Given the description of an element on the screen output the (x, y) to click on. 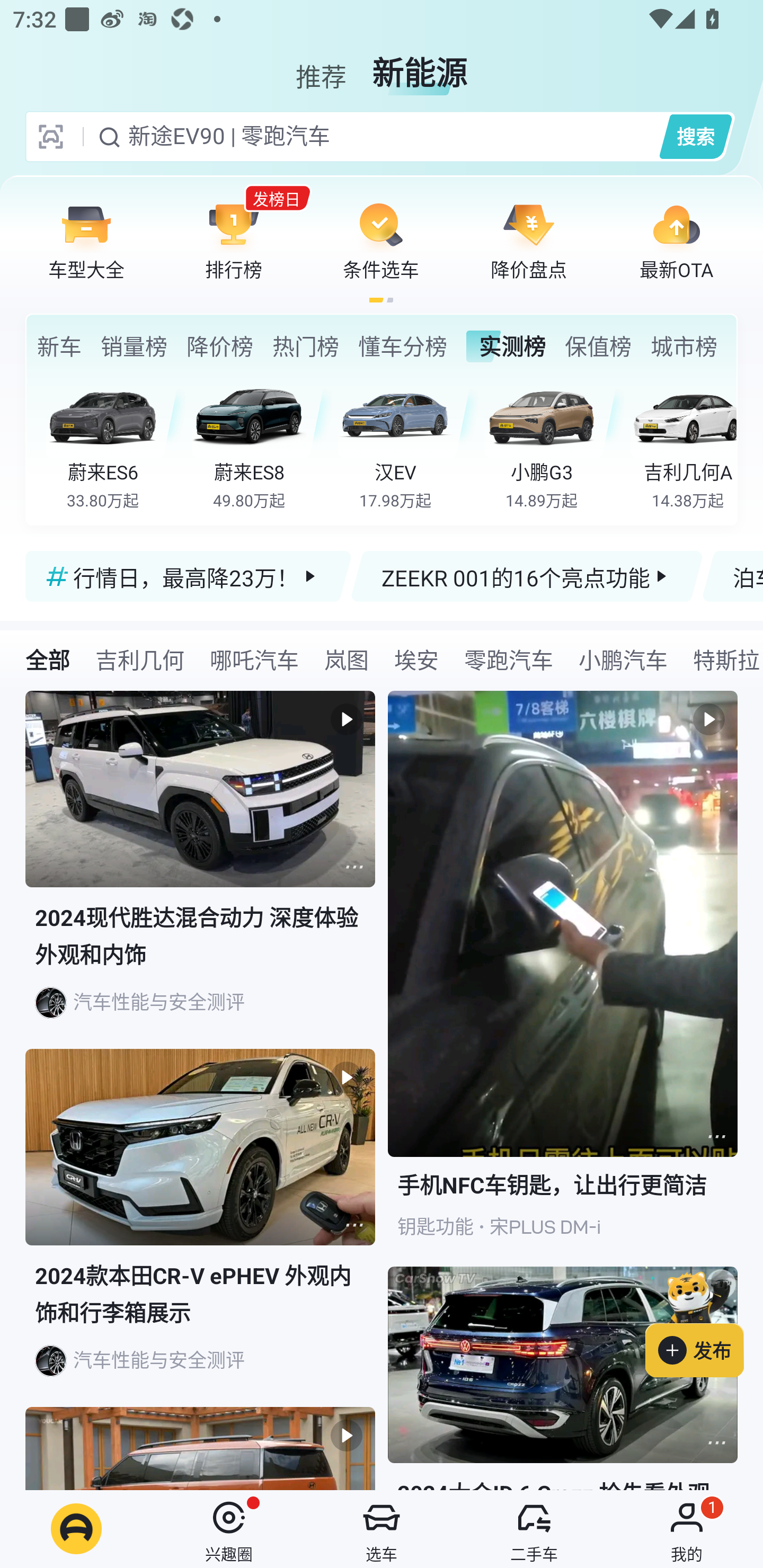
推荐 (321, 65)
新能源 (419, 65)
搜索 (695, 136)
车型大全 (86, 240)
发榜日 排行榜 (233, 240)
条件选车 (380, 240)
降价盘点 (528, 240)
最新OTA (676, 240)
新车 (59, 346)
销量榜 (133, 346)
降价榜 (219, 346)
热门榜 (305, 346)
懂车分榜 (402, 346)
实测榜 (505, 346)
保值榜 (597, 346)
城市榜 (683, 346)
蔚来ES6 33.80万起 (115, 442)
蔚来ES8 49.80万起 (261, 442)
汉EV 17.98万起 (407, 442)
小鹏G3 14.89万起 (554, 442)
吉利几何A 14.38万起 (683, 442)
行情日，最高降23万！ (188, 576)
ZEEKR 001的16个亮点功能 (526, 576)
全部 (47, 659)
吉利几何 (139, 659)
哪吒汽车 (253, 659)
岚图 (346, 659)
埃安 (416, 659)
零跑汽车 (508, 659)
小鹏汽车 (623, 659)
特斯拉 (721, 659)
  2024现代胜达混合动力 深度体验外观和内饰 汽车性能与安全测评 (200, 869)
  手机NFC车钥匙，让出行更简洁 钥匙功能 宋PLUS DM-i (562, 978)
 (354, 867)
  2024款本田CR-V ePHEV 外观内饰和行李箱展示 汽车性能与安全测评 (200, 1227)
 (716, 1136)
宋PLUS DM-i (545, 1226)
 (354, 1224)
发布 (704, 1320)
  2024大众ID.6 Crozz 抢先看外观和内饰 (562, 1377)
 (716, 1442)
 兴趣圈 (228, 1528)
 选车 (381, 1528)
 二手车 (533, 1528)
 我的 (686, 1528)
